Given the description of an element on the screen output the (x, y) to click on. 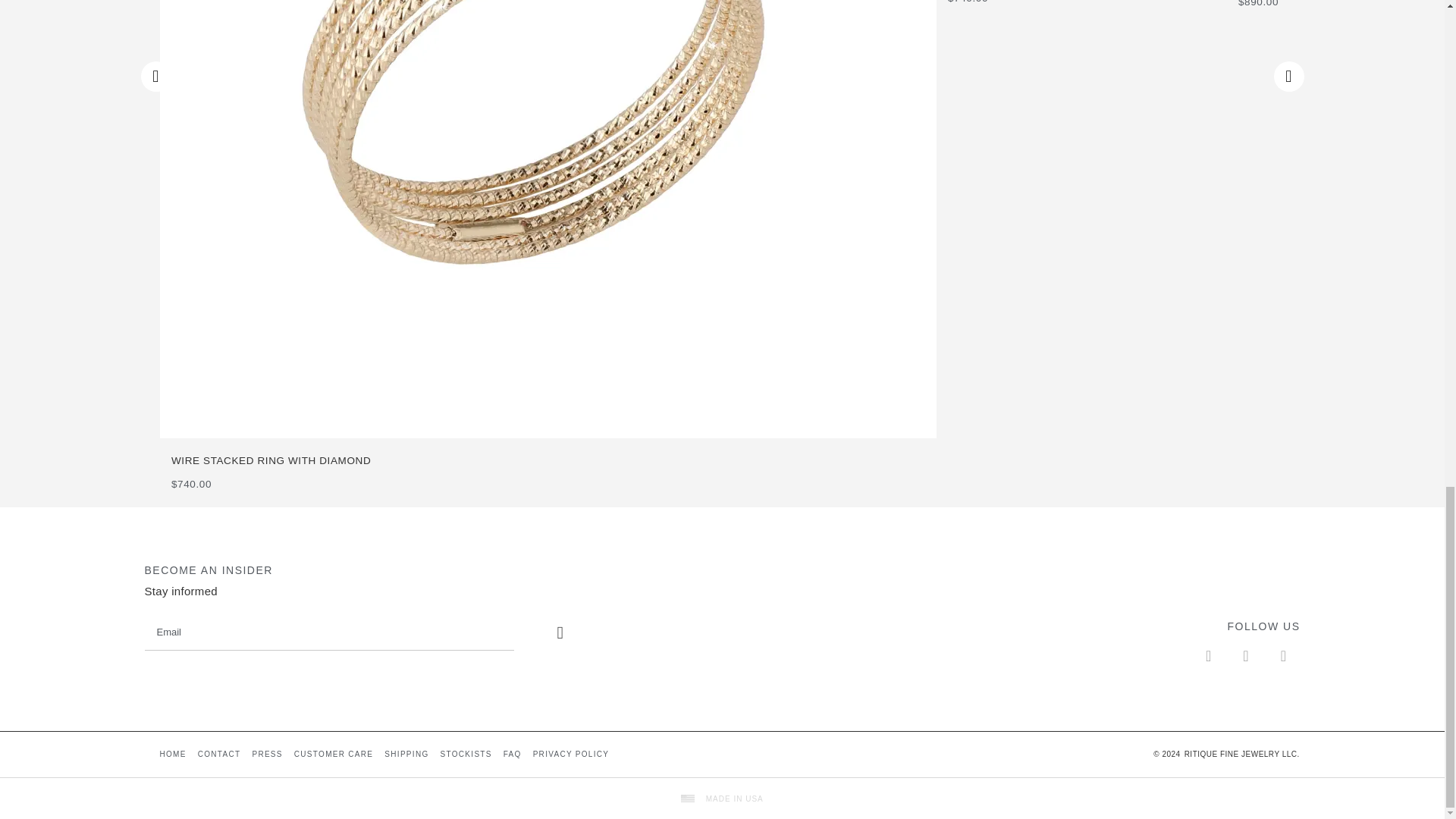
Email (328, 632)
CONTACT (219, 754)
HOME (172, 754)
SHIPPING (406, 754)
CUSTOMER CARE (333, 754)
PRESS (266, 754)
WIRE STACKED RING WITH DIAMOND (553, 460)
